Given the description of an element on the screen output the (x, y) to click on. 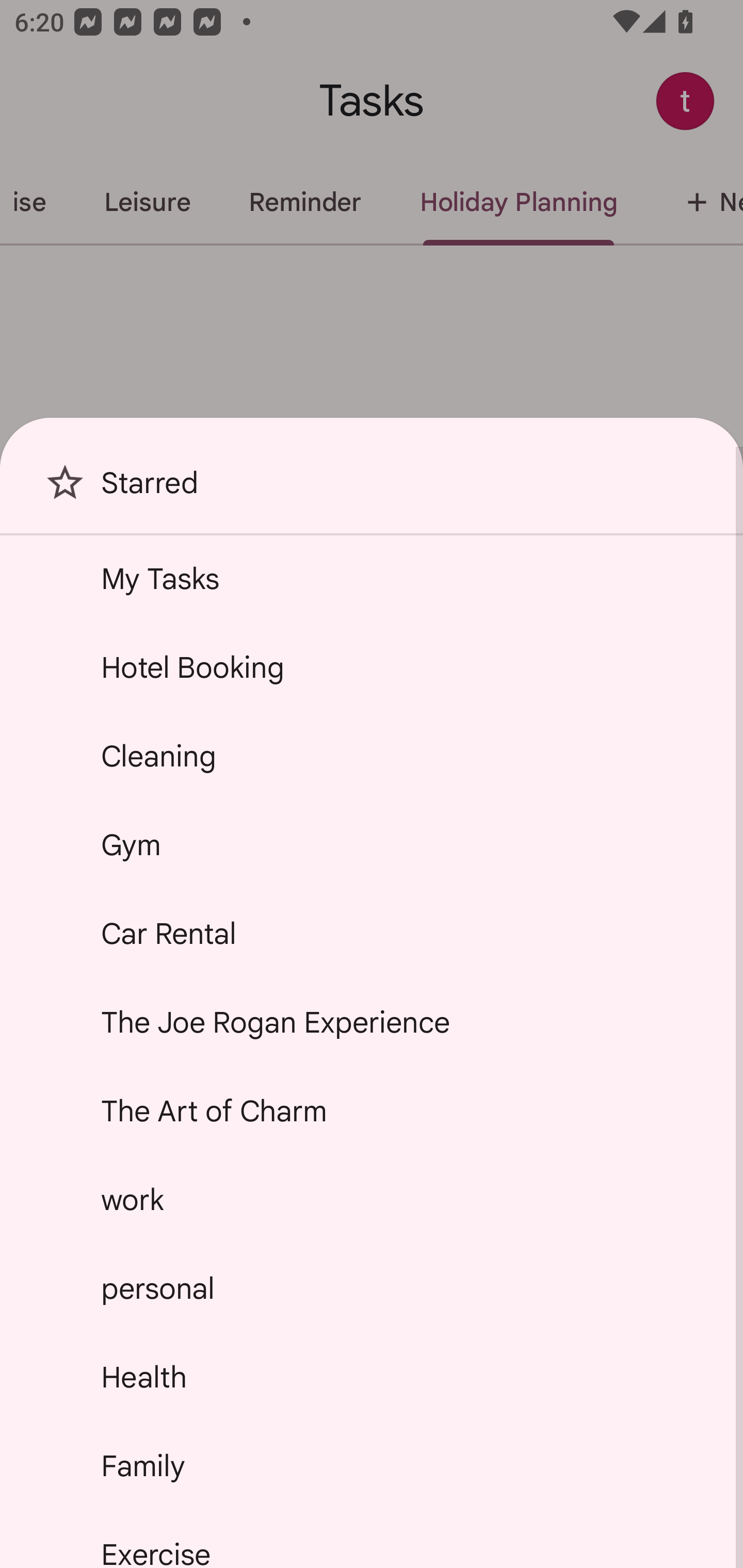
Starred (371, 489)
My Tasks (371, 578)
Hotel Booking (371, 667)
Cleaning (371, 756)
Gym (371, 844)
Car Rental (371, 933)
The Joe Rogan Experience (371, 1022)
The Art of Charm (371, 1110)
work (371, 1200)
personal (371, 1287)
Health (371, 1377)
Family (371, 1465)
Exercise (371, 1539)
